Given the description of an element on the screen output the (x, y) to click on. 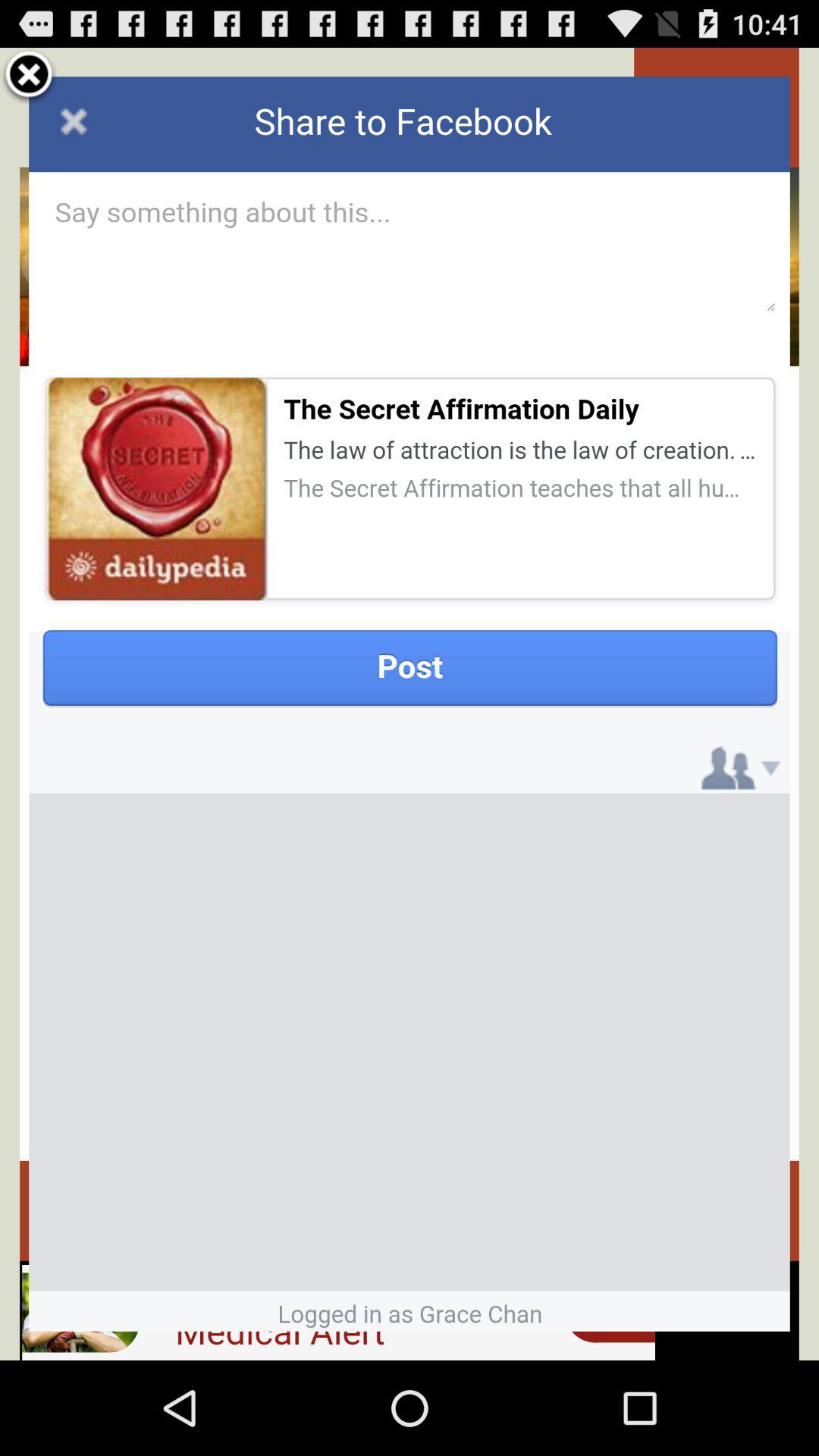
close (29, 76)
